Given the description of an element on the screen output the (x, y) to click on. 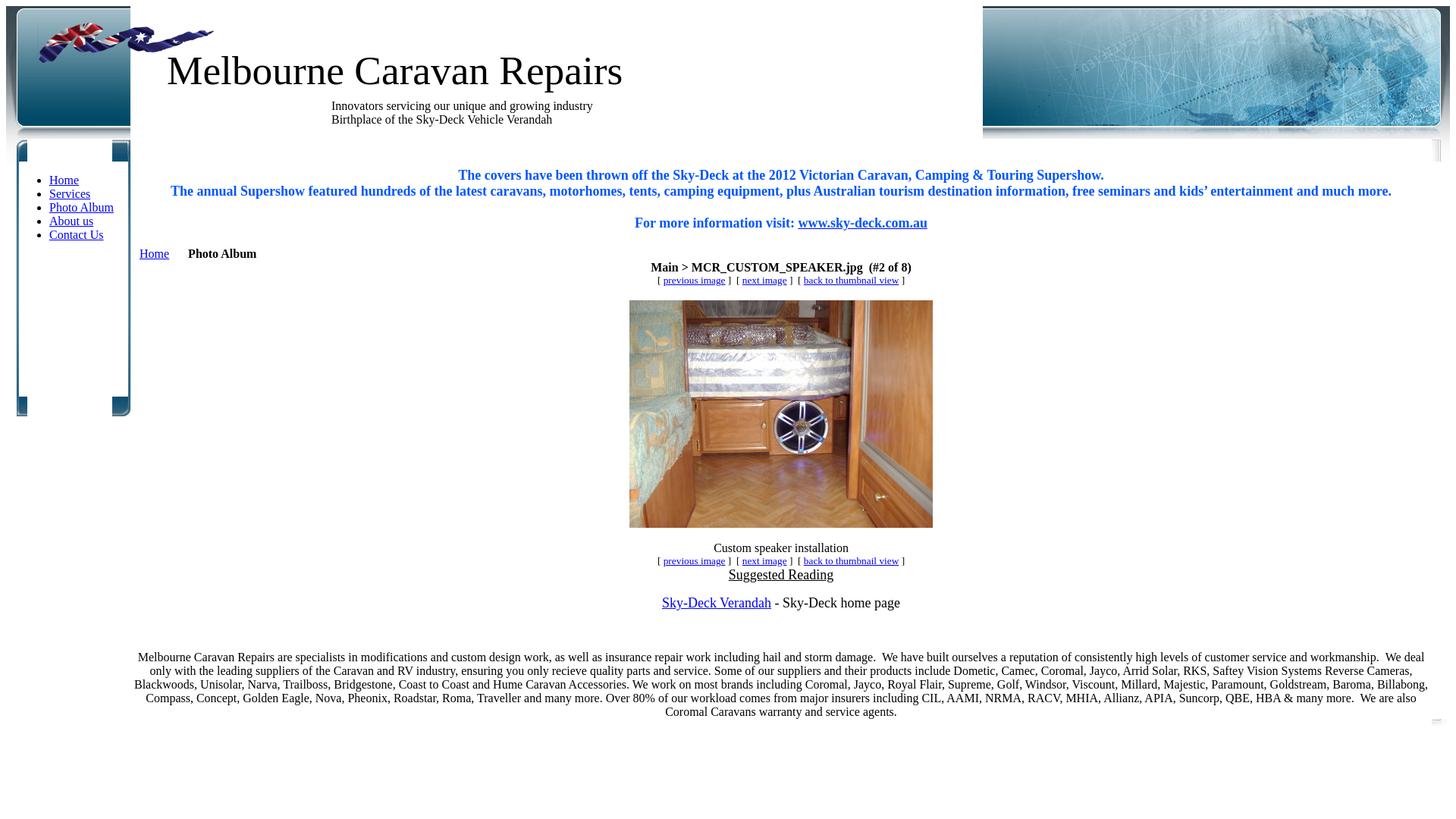
next image Element type: text (764, 560)
www.sky-deck.com.au Element type: text (862, 222)
back to thumbnail view Element type: text (850, 279)
previous image Element type: text (694, 279)
About us Element type: text (71, 220)
Home Element type: text (63, 179)
Photo Album Element type: text (81, 206)
Services Element type: text (69, 193)
Contact Us Element type: text (76, 234)
next image Element type: text (764, 279)
Sky-Deck Verandah Element type: text (716, 602)
previous image Element type: text (694, 560)
Home Element type: text (154, 253)
back to thumbnail view Element type: text (850, 560)
